Given the description of an element on the screen output the (x, y) to click on. 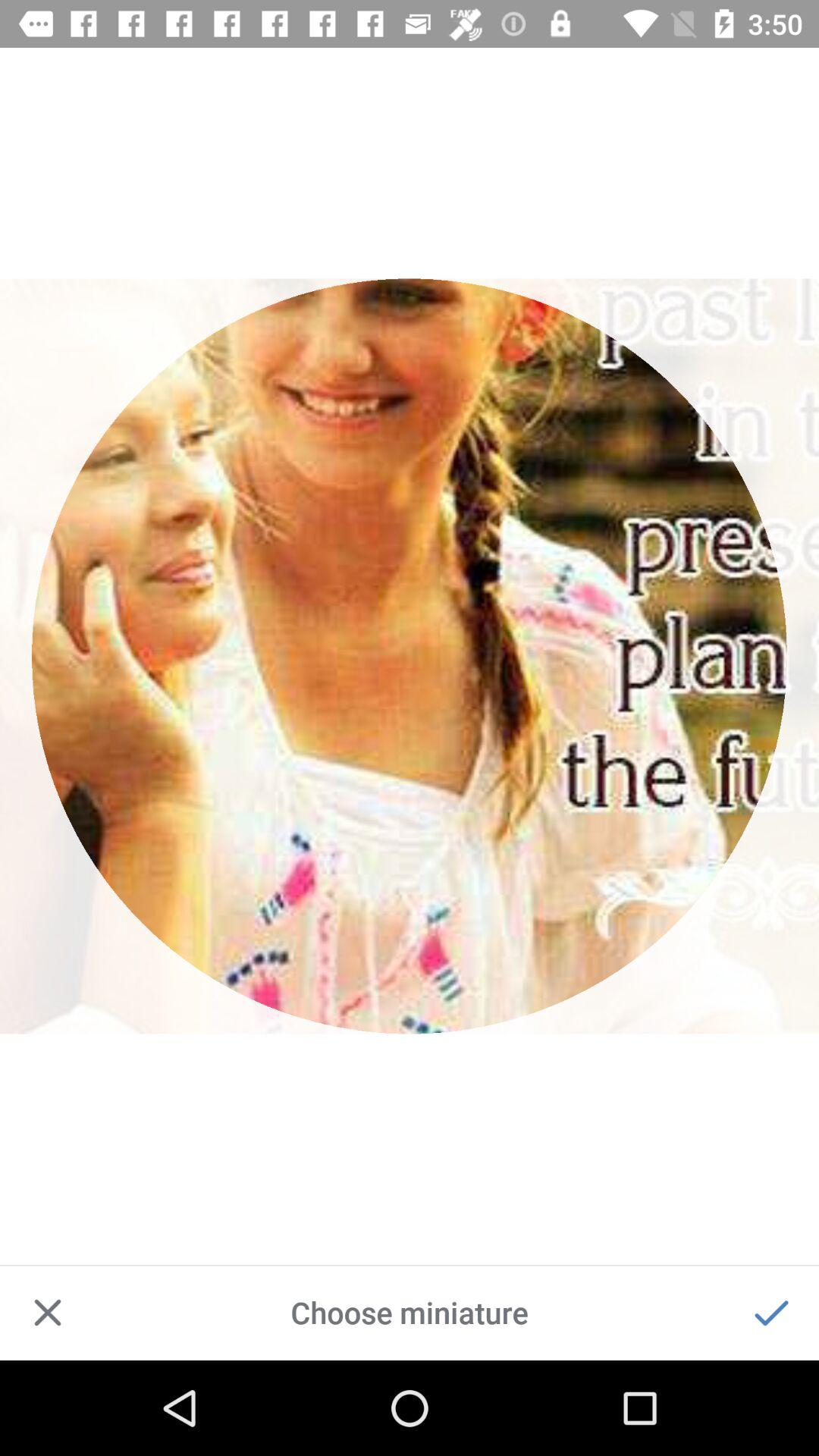
dismiss (47, 1312)
